Given the description of an element on the screen output the (x, y) to click on. 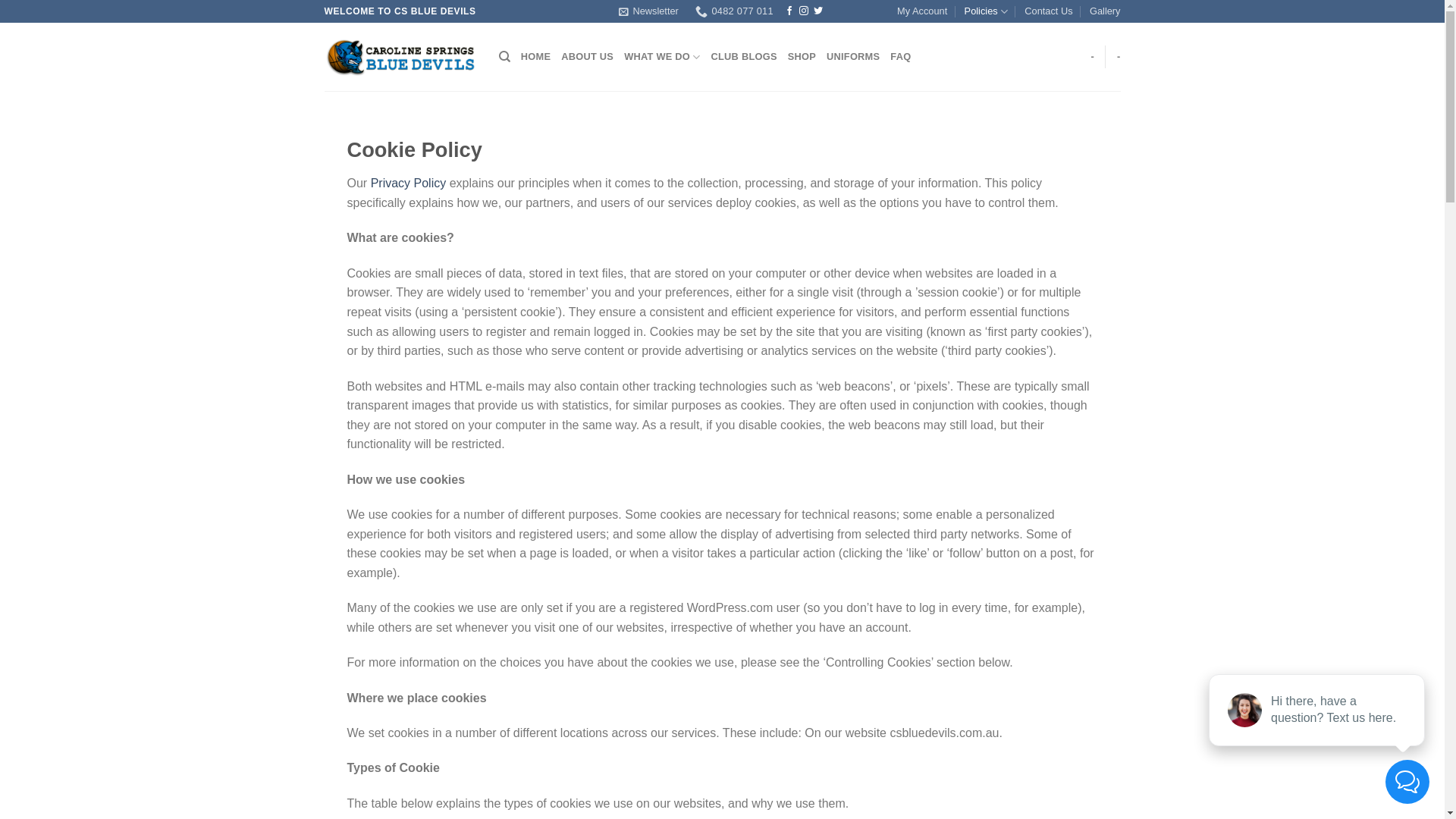
- Element type: text (1092, 56)
HOME Element type: text (535, 56)
0482 077 011 Element type: text (734, 11)
UNIFORMS Element type: text (852, 56)
CLUB BLOGS Element type: text (744, 56)
Newsletter Element type: text (647, 11)
FAQ Element type: text (900, 56)
Privacy Policy Element type: text (408, 182)
ABOUT US Element type: text (587, 56)
WHAT WE DO Element type: text (661, 56)
My Account Element type: text (922, 11)
Contact Us Element type: text (1048, 11)
Caroline Springs Blue Devils Basketball Element type: hover (400, 56)
- Element type: text (1118, 56)
Policies Element type: text (985, 11)
SHOP Element type: text (801, 56)
Gallery Element type: text (1104, 11)
